Given the description of an element on the screen output the (x, y) to click on. 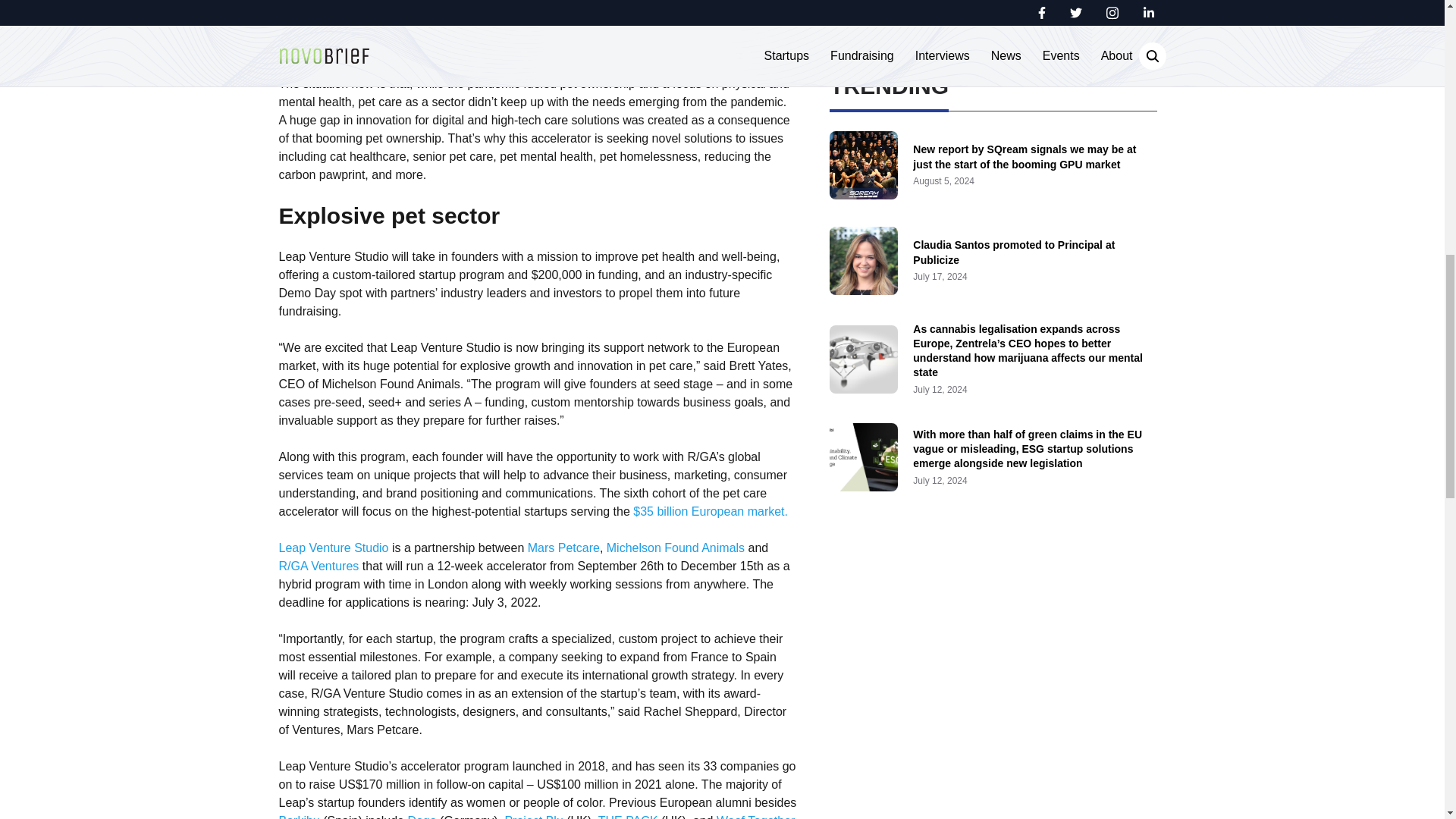
Michelson Found Animals (675, 547)
Dogo (421, 816)
Mars Petcare (563, 547)
said Pablo Pazos (536, 47)
Project Blu (532, 816)
Barkibu (299, 816)
Leap Venture Studio (333, 547)
